Given the description of an element on the screen output the (x, y) to click on. 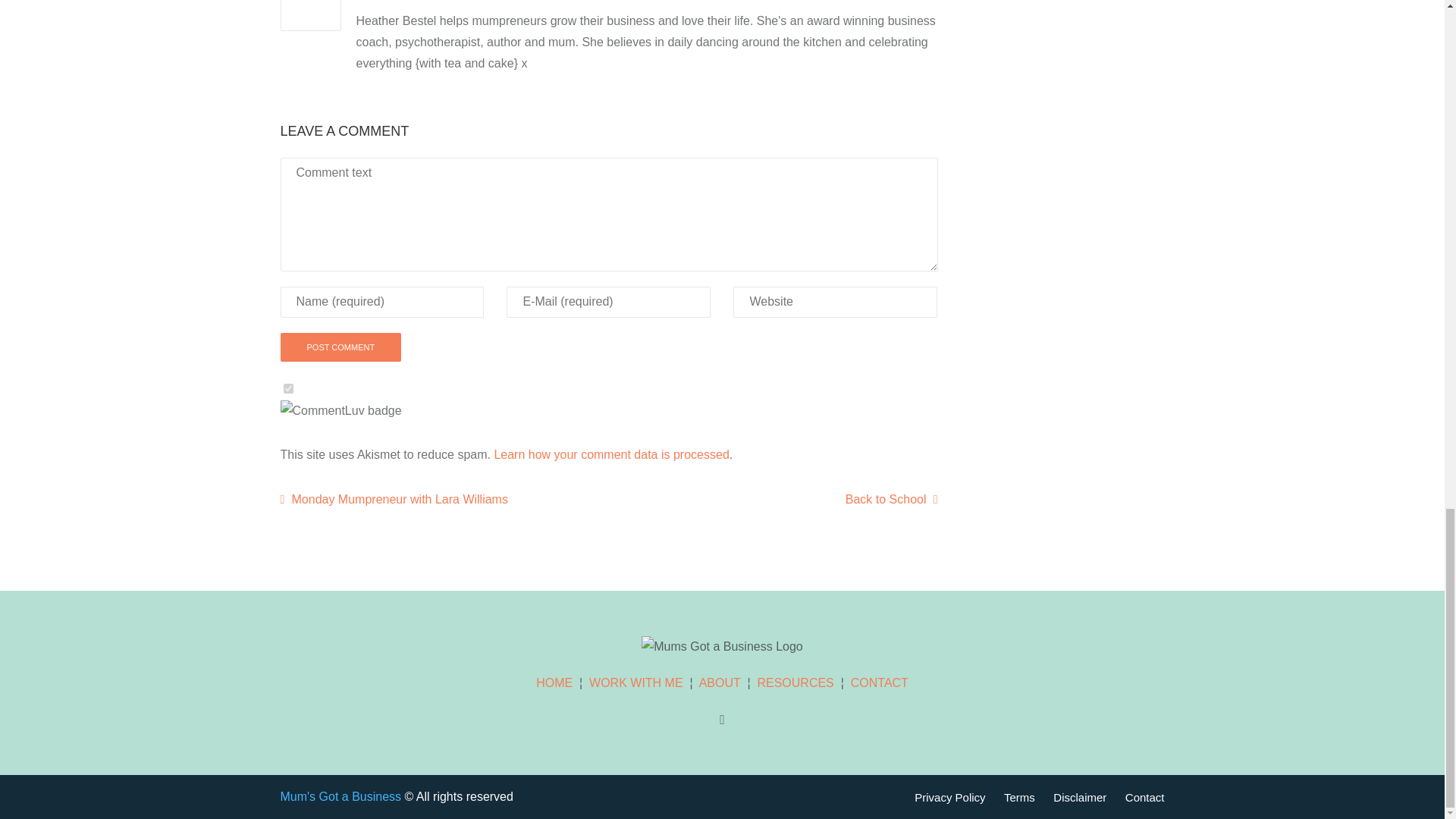
Post comment (341, 346)
Facebook (721, 719)
on (288, 388)
